Given the description of an element on the screen output the (x, y) to click on. 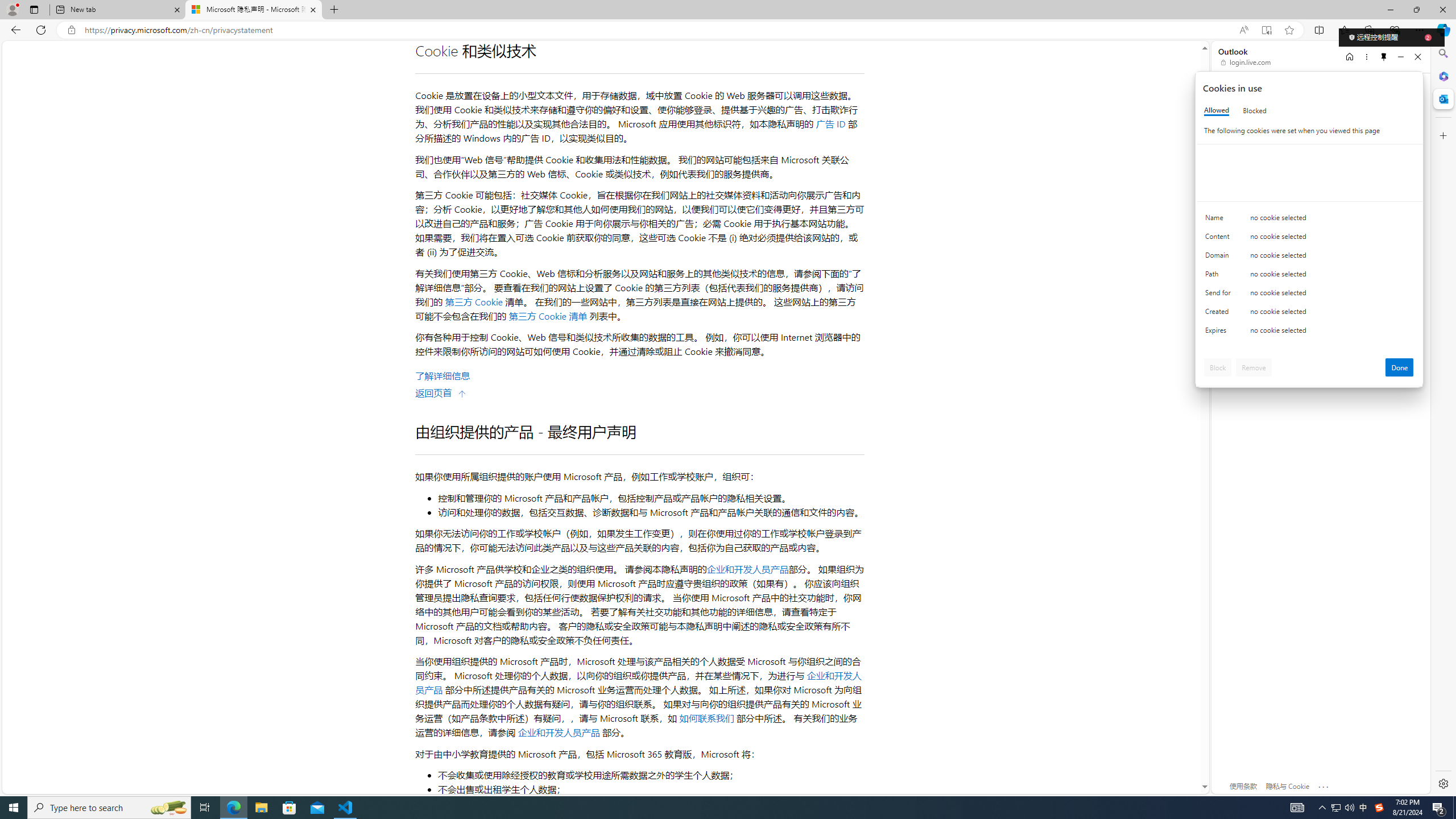
Class: c0153 c0157 c0154 (1309, 220)
Name (1219, 220)
Path (1219, 276)
Created (1219, 313)
Allowed (1216, 110)
Remove (1253, 367)
Domain (1219, 257)
no cookie selected (1331, 332)
Content (1219, 239)
Blocked (1255, 110)
Send for (1219, 295)
Class: c0153 c0157 (1309, 332)
Done (1399, 367)
Block (1217, 367)
Expires (1219, 332)
